Given the description of an element on the screen output the (x, y) to click on. 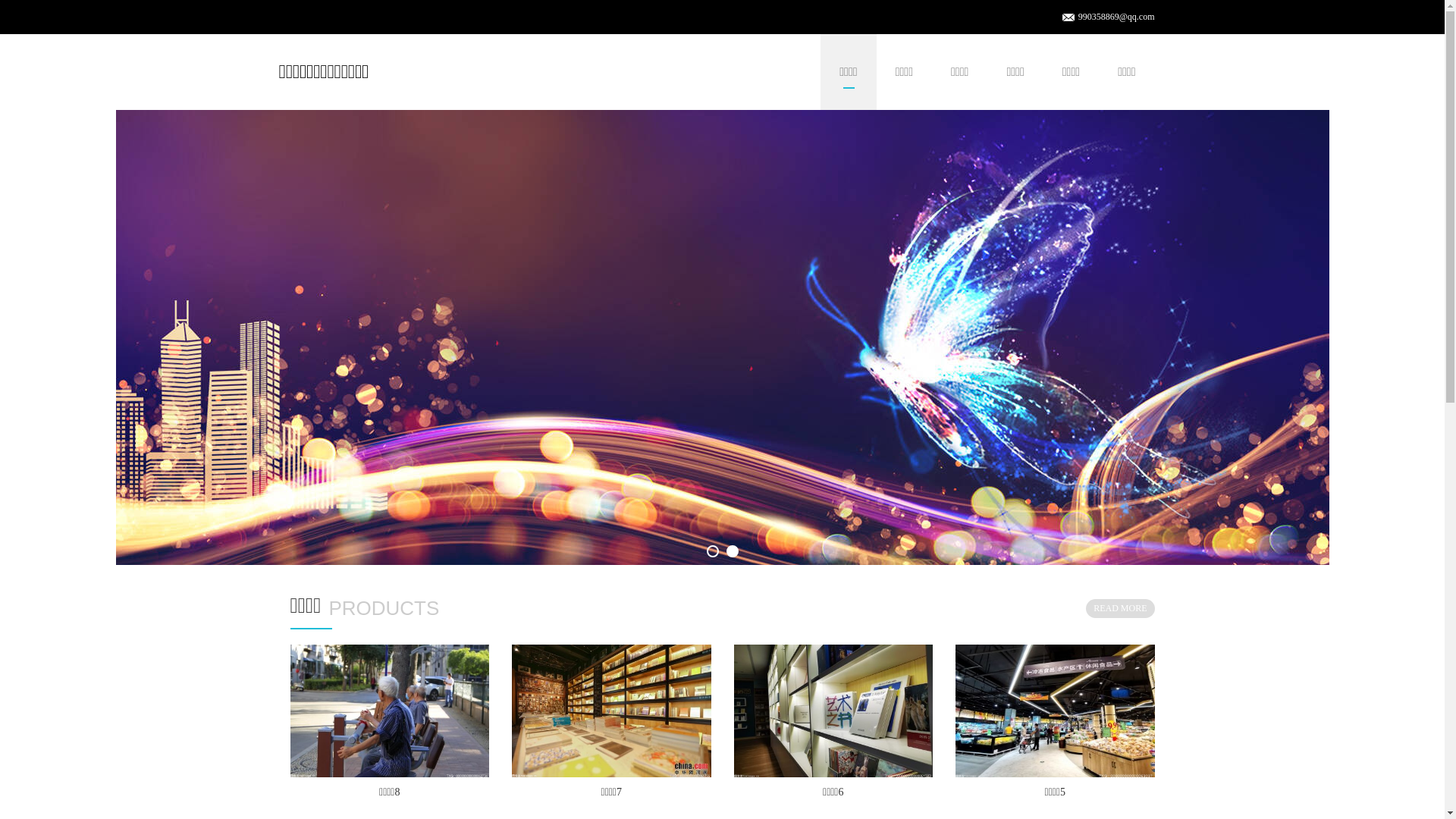
READ MORE Element type: text (1119, 608)
990358869@qq.com Element type: text (1116, 16)
